Given the description of an element on the screen output the (x, y) to click on. 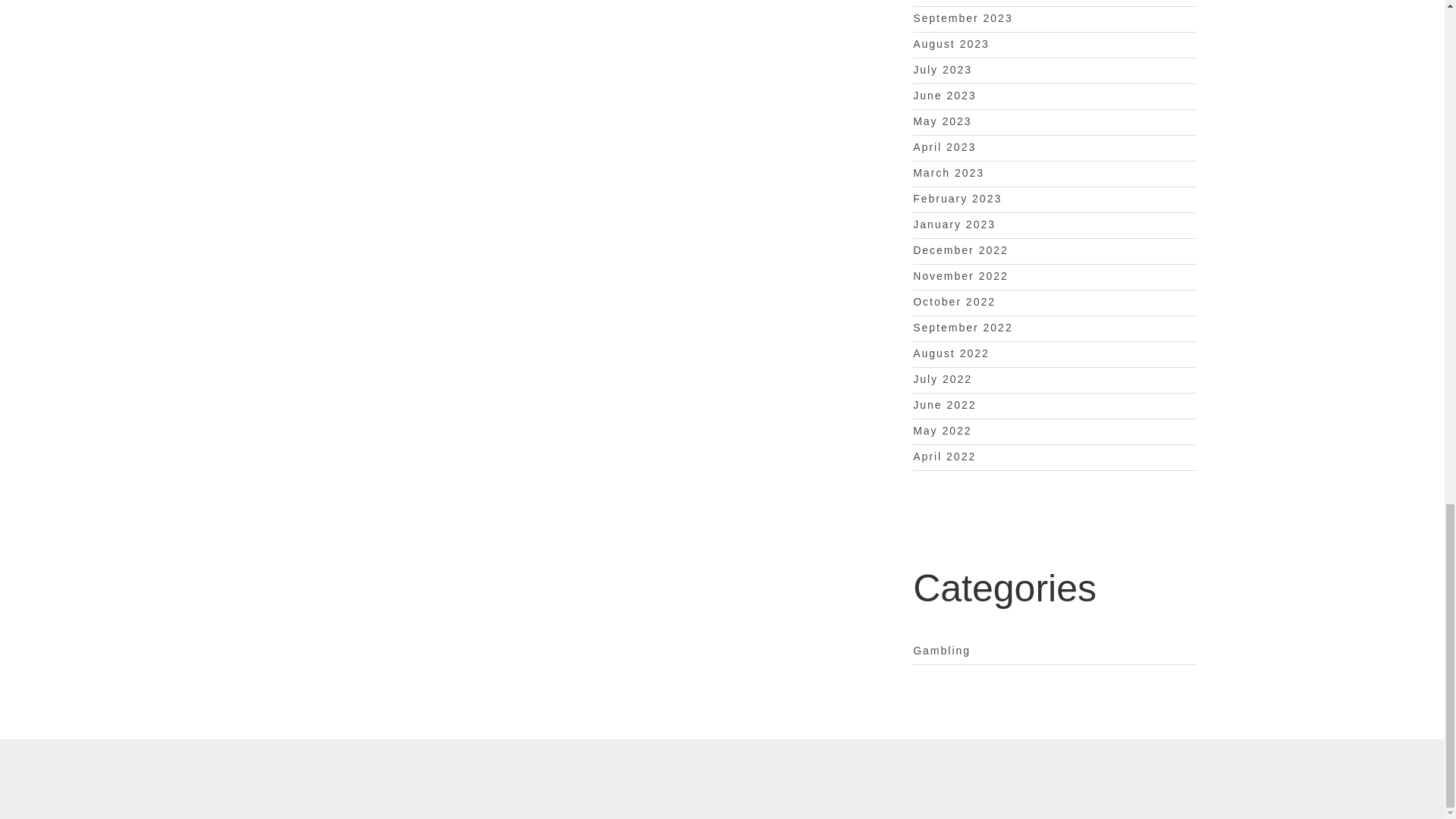
February 2023 (956, 198)
March 2023 (948, 173)
April 2023 (943, 146)
July 2022 (942, 378)
September 2023 (962, 18)
October 2022 (953, 301)
September 2022 (962, 327)
July 2023 (942, 69)
November 2022 (960, 275)
May 2023 (941, 121)
